Given the description of an element on the screen output the (x, y) to click on. 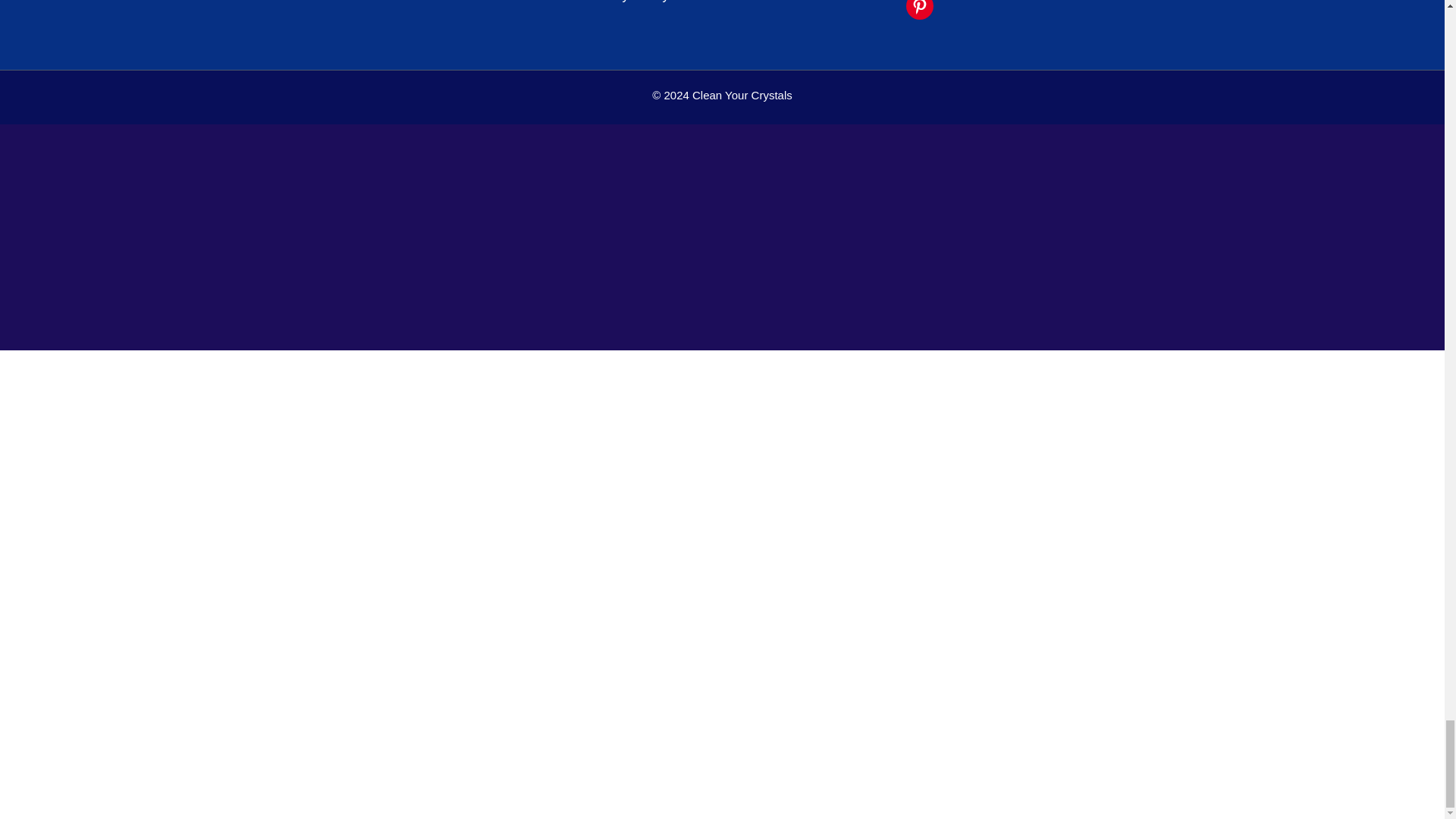
Privacy Policy  (627, 1)
Pinterest (919, 9)
